Given the description of an element on the screen output the (x, y) to click on. 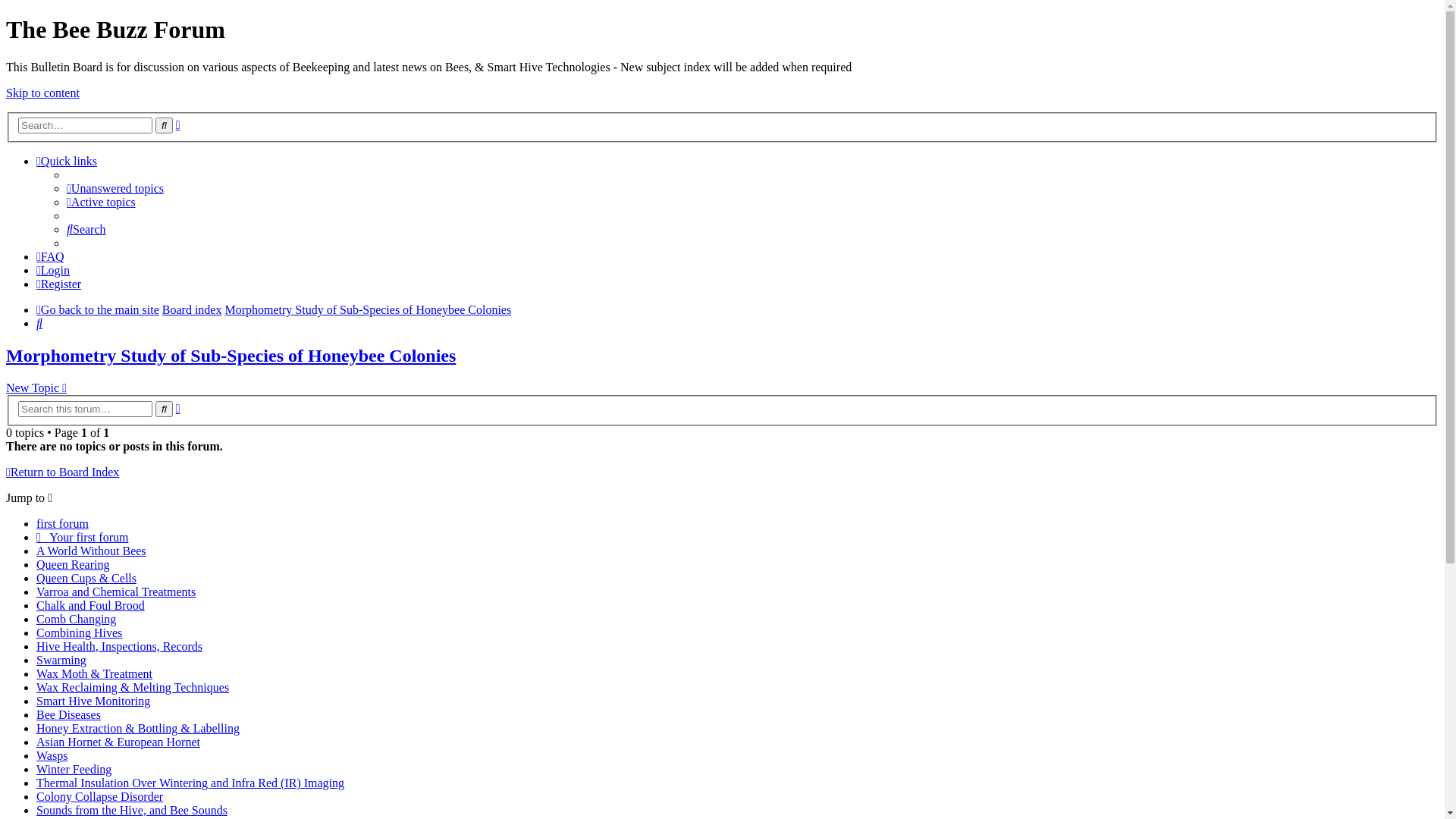
Combining Hives Element type: text (79, 632)
Return to Board Index Element type: text (62, 471)
Bee Diseases Element type: text (68, 714)
Queen Cups & Cells Element type: text (86, 577)
Colony Collapse Disorder Element type: text (99, 796)
Search Element type: text (163, 409)
Quick links Element type: text (66, 160)
Winter Feeding Element type: text (73, 768)
Register Element type: text (58, 283)
Honey Extraction & Bottling & Labelling Element type: text (137, 727)
Swarming Element type: text (61, 659)
Active topics Element type: text (100, 201)
Wax Reclaiming & Melting Techniques Element type: text (132, 686)
Skip to content Element type: text (42, 92)
Search Element type: text (163, 125)
Comb Changing Element type: text (76, 618)
Smart Hive Monitoring Element type: text (93, 700)
Advanced search Element type: text (177, 407)
Login Element type: text (52, 269)
Asian Hornet & European Hornet Element type: text (118, 741)
Morphometry Study of Sub-Species of Honeybee Colonies Element type: text (230, 355)
Thermal Insulation Over Wintering and Infra Red (IR) Imaging Element type: text (190, 782)
Sounds from the Hive, and Bee Sounds Element type: text (131, 809)
Wasps Element type: text (51, 755)
Search Element type: text (86, 228)
Advanced search Element type: text (177, 124)
New Topic Element type: text (36, 387)
Chalk and Foul Brood Element type: text (90, 605)
Morphometry Study of Sub-Species of Honeybee Colonies Element type: text (367, 309)
first forum Element type: text (62, 523)
Board index Element type: text (192, 309)
Go back to the main site Element type: text (97, 309)
Wax Moth & Treatment Element type: text (94, 673)
Queen Rearing Element type: text (72, 564)
Search Element type: text (39, 322)
Hive Health, Inspections, Records Element type: text (119, 646)
Unanswered topics Element type: text (114, 188)
FAQ Element type: text (50, 256)
Search for keywords Element type: hover (85, 125)
A World Without Bees Element type: text (91, 550)
Varroa and Chemical Treatments Element type: text (115, 591)
